Given the description of an element on the screen output the (x, y) to click on. 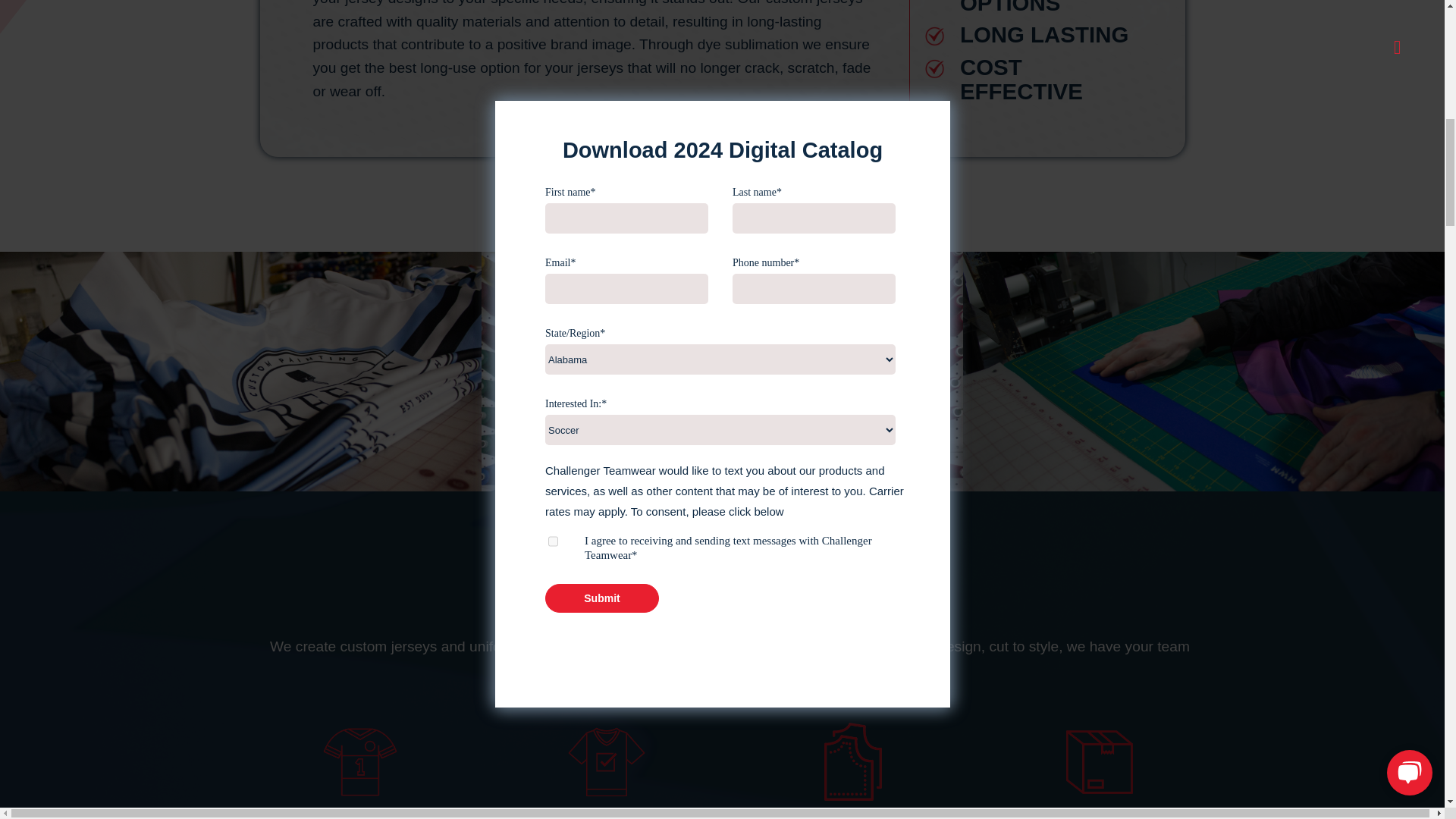
1 (721, 386)
3 (852, 761)
2 (240, 386)
4 (1203, 386)
2 (606, 761)
4 (1098, 761)
Step-1-transparent (360, 761)
